Given the description of an element on the screen output the (x, y) to click on. 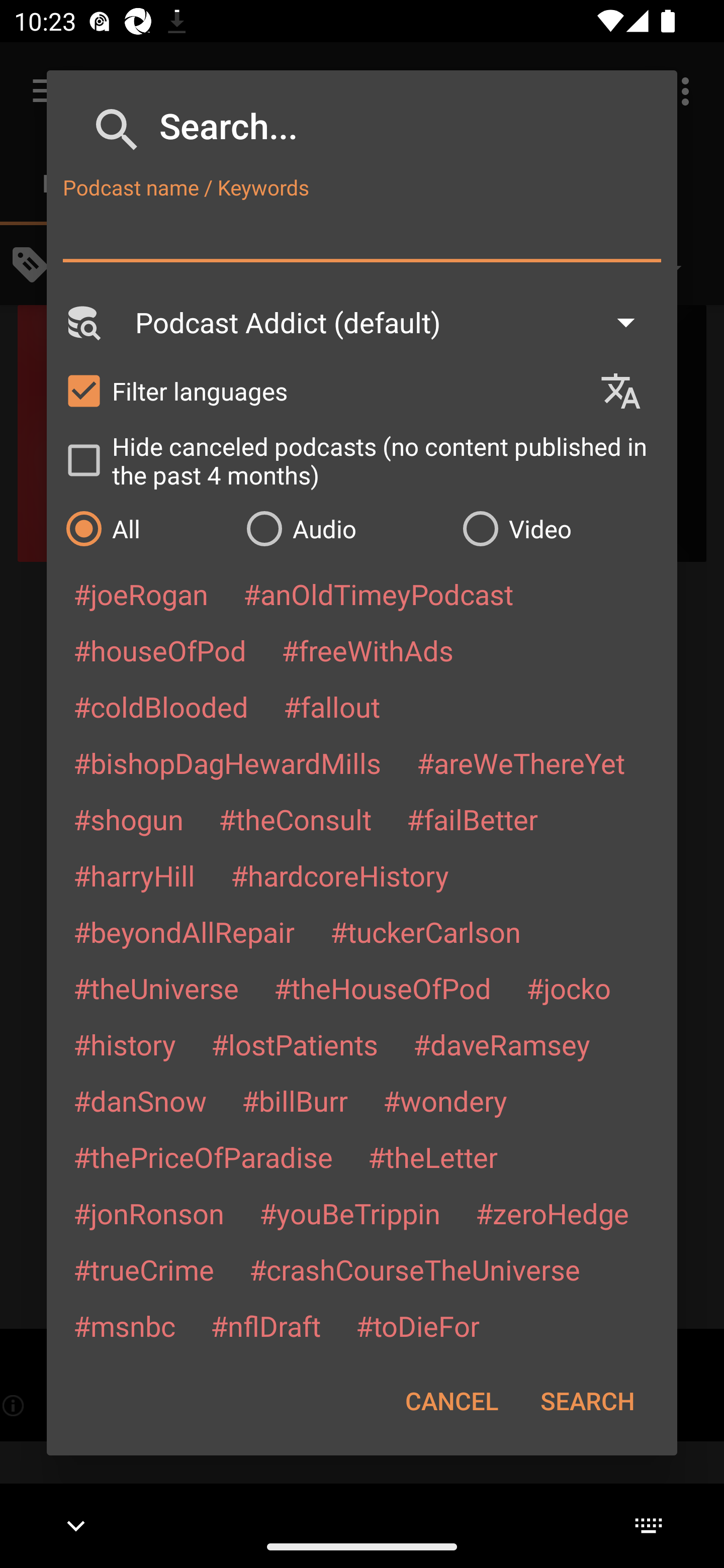
Podcast name / Keywords (361, 234)
Search Engine (82, 322)
Podcast Addict (default) (394, 322)
Languages selection (629, 390)
Filter languages (322, 390)
All (145, 528)
Audio (344, 528)
Video (560, 528)
#joeRogan (140, 594)
#anOldTimeyPodcast (378, 594)
#houseOfPod (159, 650)
#freeWithAds (367, 650)
#coldBlooded (160, 705)
#fallout (331, 705)
#bishopDagHewardMills (227, 762)
#areWeThereYet (521, 762)
#shogun (128, 818)
#theConsult (294, 818)
#failBetter (471, 818)
#harryHill (134, 875)
#hardcoreHistory (339, 875)
#beyondAllRepair (184, 931)
#tuckerCarlson (425, 931)
#theUniverse (155, 987)
#theHouseOfPod (381, 987)
#jocko (568, 987)
#history (124, 1044)
#lostPatients (294, 1044)
#daveRamsey (501, 1044)
#danSnow (139, 1100)
#billBurr (294, 1100)
#wondery (444, 1100)
#thePriceOfParadise (203, 1157)
#theLetter (432, 1157)
#jonRonson (148, 1213)
#youBeTrippin (349, 1213)
#zeroHedge (552, 1213)
#trueCrime (143, 1268)
#crashCourseTheUniverse (414, 1268)
#msnbc (124, 1325)
#nflDraft (265, 1325)
#toDieFor (417, 1325)
CANCEL (451, 1400)
SEARCH (587, 1400)
